Given the description of an element on the screen output the (x, y) to click on. 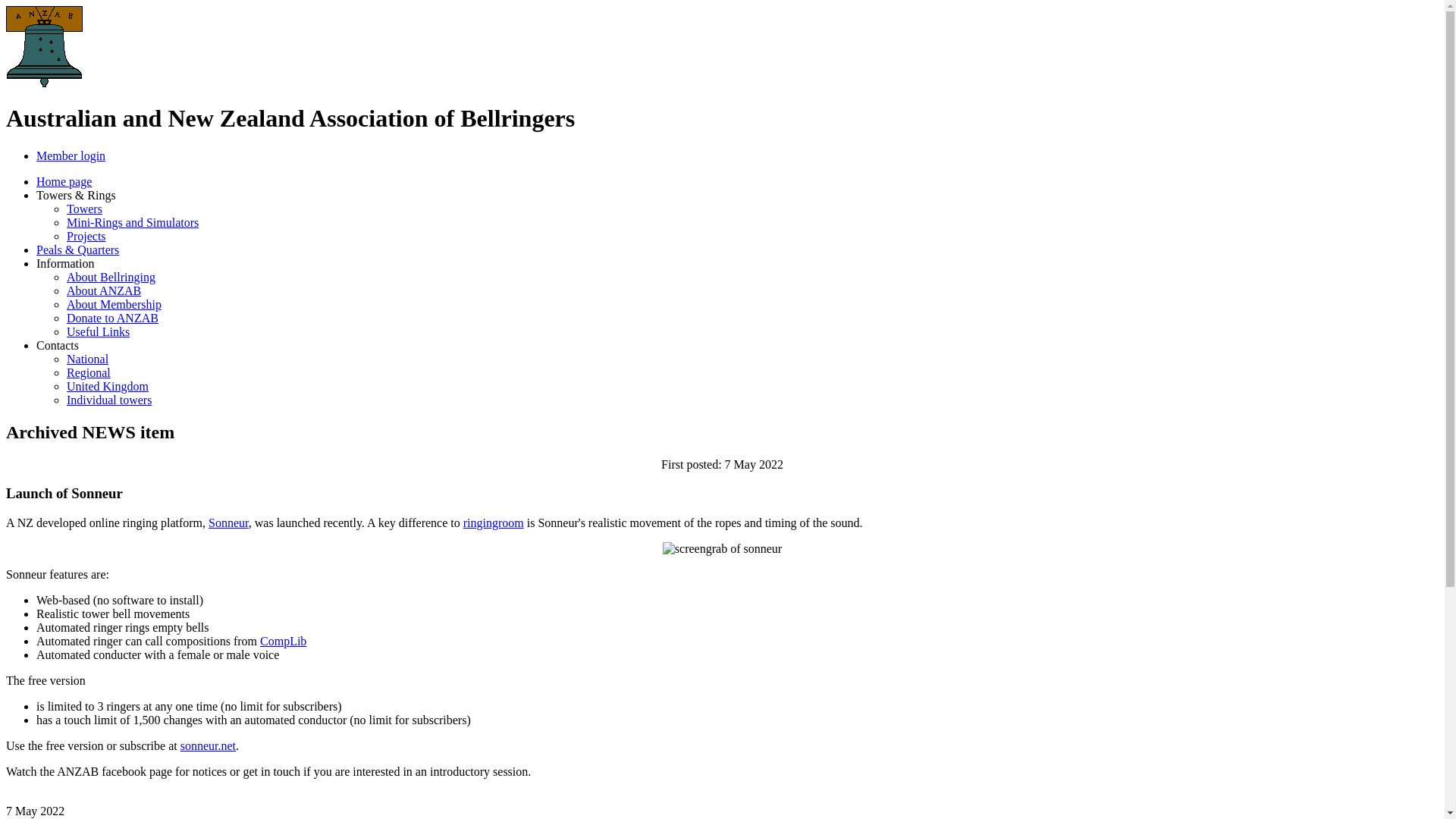
Home page Element type: text (63, 181)
Peals & Quarters Element type: text (77, 249)
Information Element type: text (65, 263)
Towers Element type: text (84, 208)
ANZAB home page Element type: hover (44, 84)
Mini-Rings and Simulators Element type: text (132, 222)
CompLib Element type: text (283, 640)
Sonneur Element type: text (228, 522)
National Element type: text (87, 358)
sonneur.net Element type: text (207, 745)
Individual towers Element type: text (108, 399)
Useful Links Element type: text (97, 331)
United Kingdom Element type: text (107, 385)
Regional Element type: text (88, 372)
About ANZAB Element type: text (103, 290)
Projects Element type: text (86, 235)
About Membership Element type: text (113, 304)
Donate to ANZAB Element type: text (112, 317)
Contacts Element type: text (57, 344)
ringingroom Element type: text (493, 522)
Towers & Rings Element type: text (76, 194)
Member login Element type: text (70, 155)
About Bellringing Element type: text (110, 276)
